Given the description of an element on the screen output the (x, y) to click on. 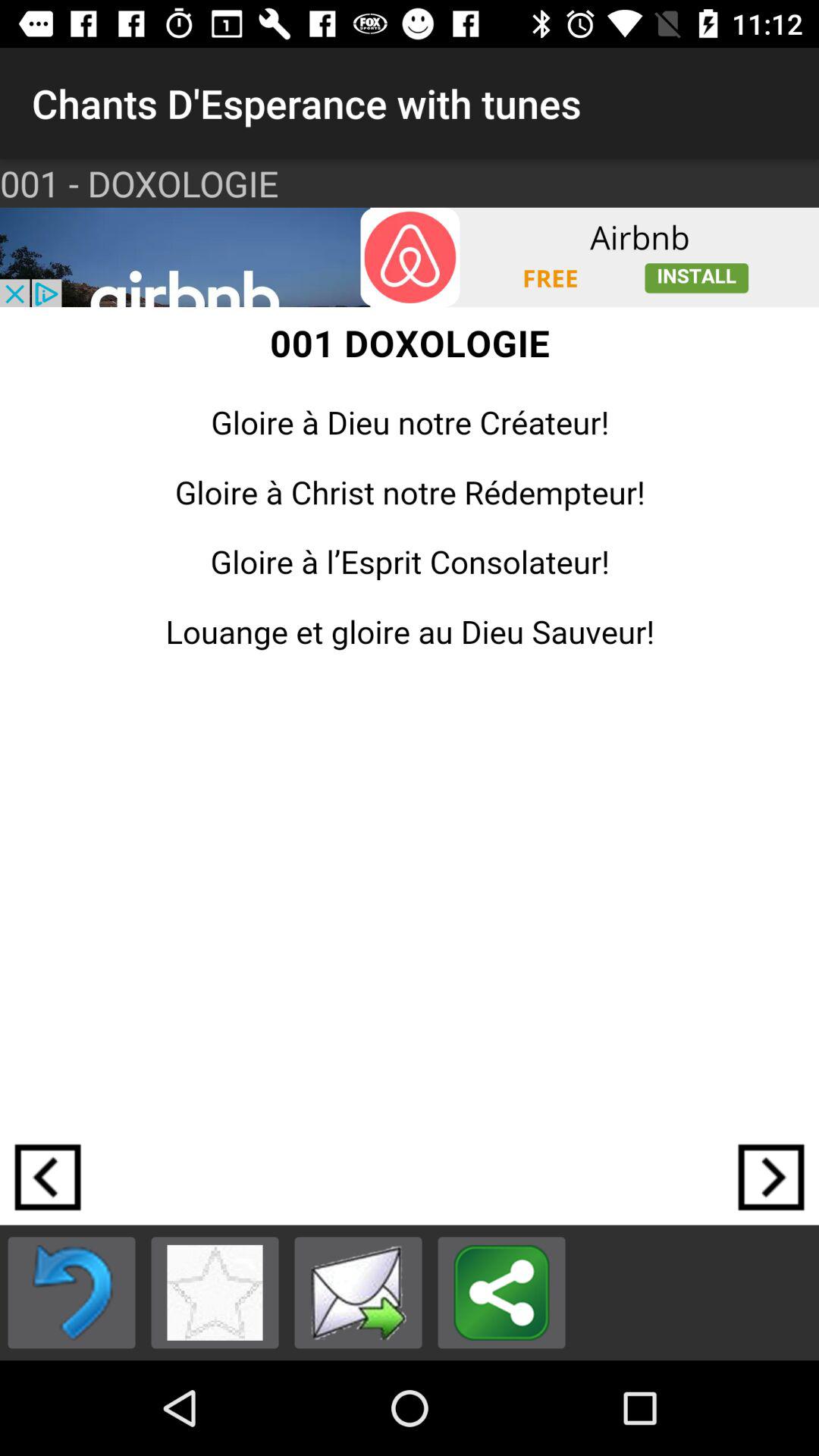
favourites (214, 1292)
